Given the description of an element on the screen output the (x, y) to click on. 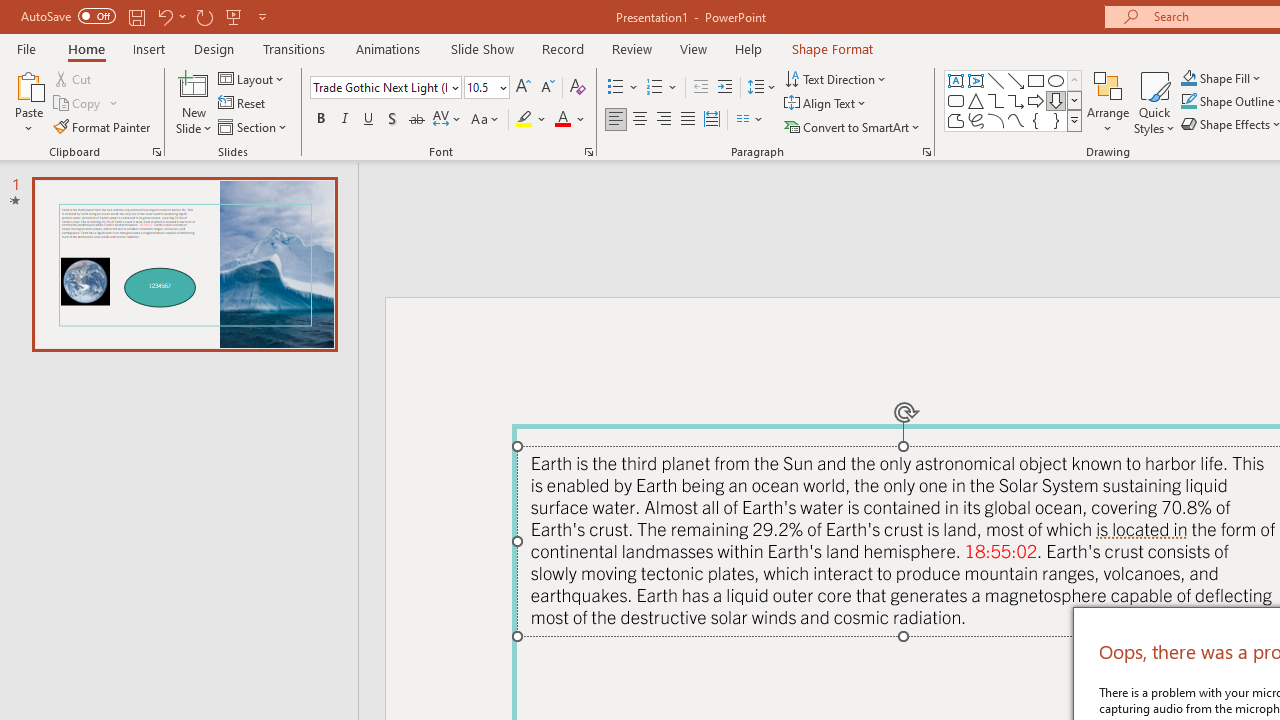
Curve (1016, 120)
AutomationID: ShapesInsertGallery (1014, 100)
Bullets (623, 87)
Font Size (486, 87)
Record (562, 48)
Line Spacing (762, 87)
Text Highlight Color (531, 119)
Text Direction (836, 78)
Text Highlight Color Yellow (524, 119)
Strikethrough (416, 119)
Increase Font Size (522, 87)
Connector: Elbow (995, 100)
Arrow: Right (1035, 100)
Shapes (1074, 120)
Rectangle (1035, 80)
